Given the description of an element on the screen output the (x, y) to click on. 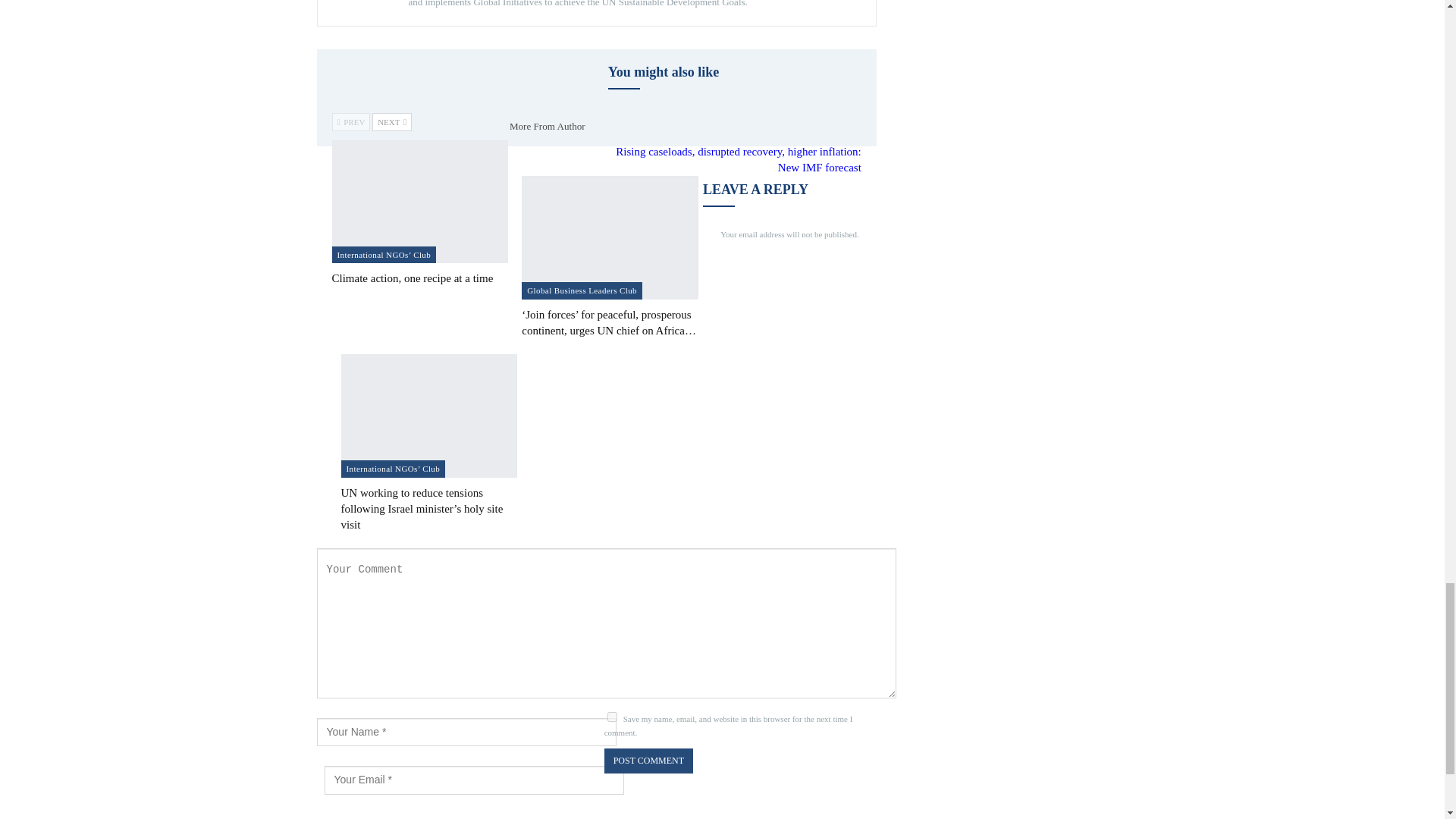
Post Comment (648, 760)
yes (612, 716)
